Given the description of an element on the screen output the (x, y) to click on. 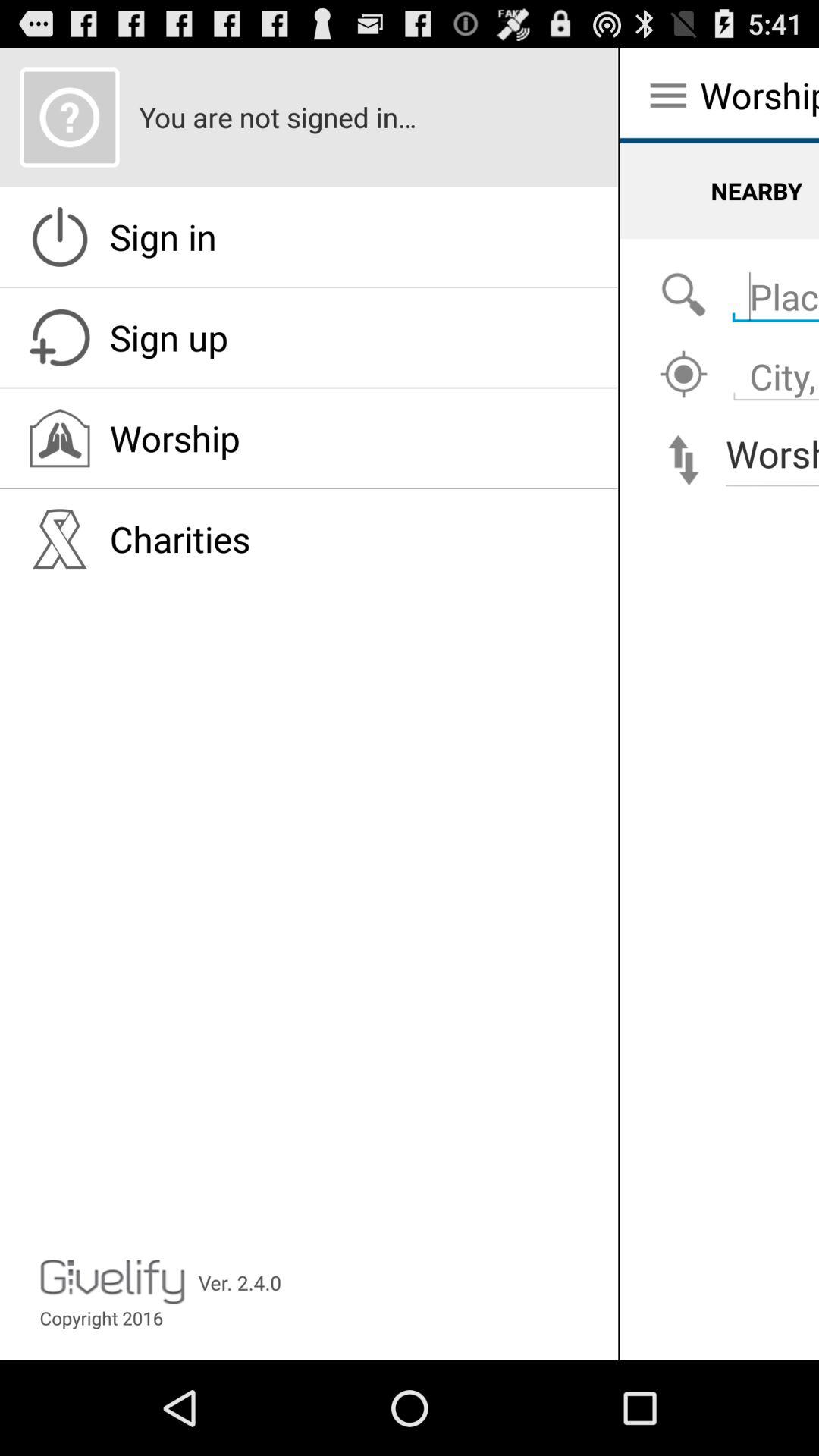
search (683, 295)
